Given the description of an element on the screen output the (x, y) to click on. 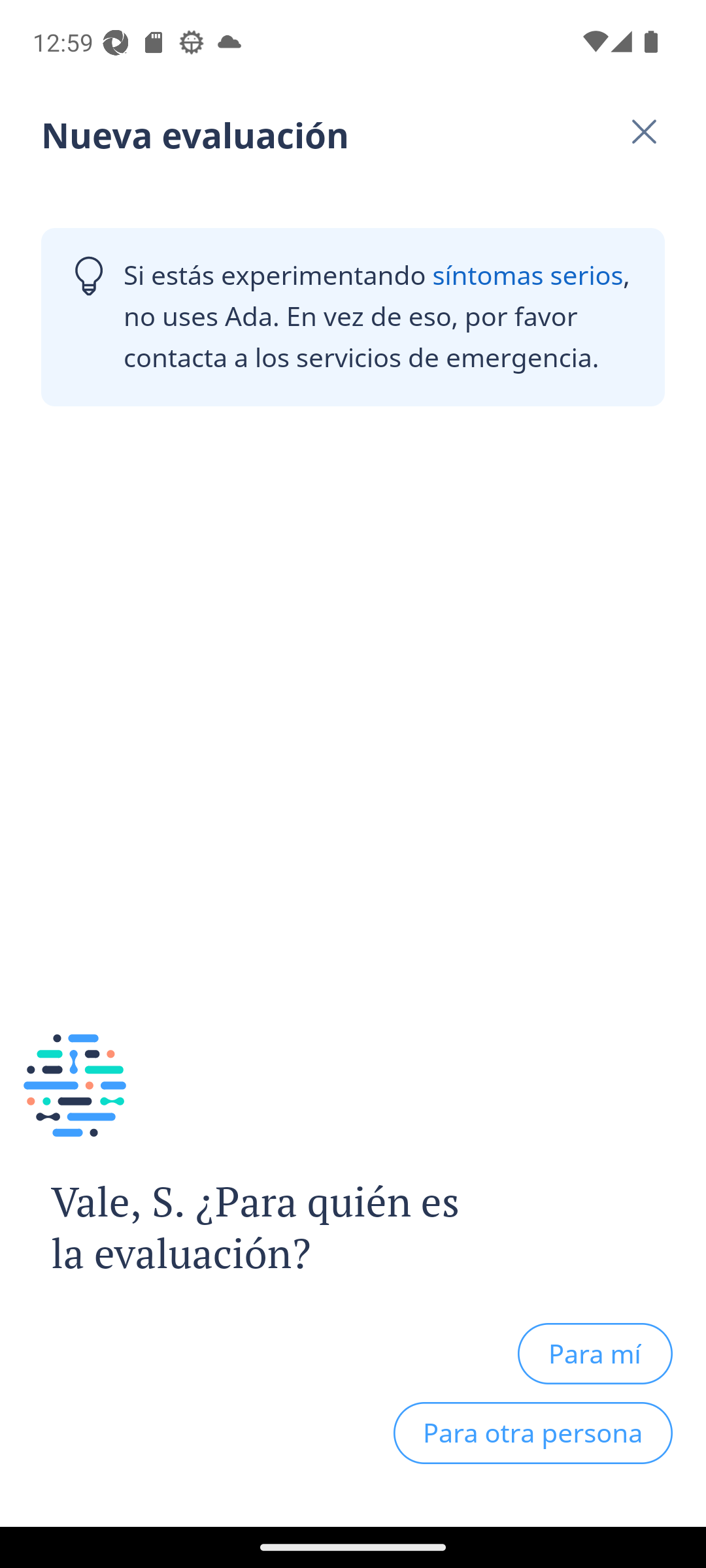
Vale, S. ¿Para quién es la evaluación? (240, 1227)
Para mí (594, 1352)
Para otra persona (532, 1432)
